Given the description of an element on the screen output the (x, y) to click on. 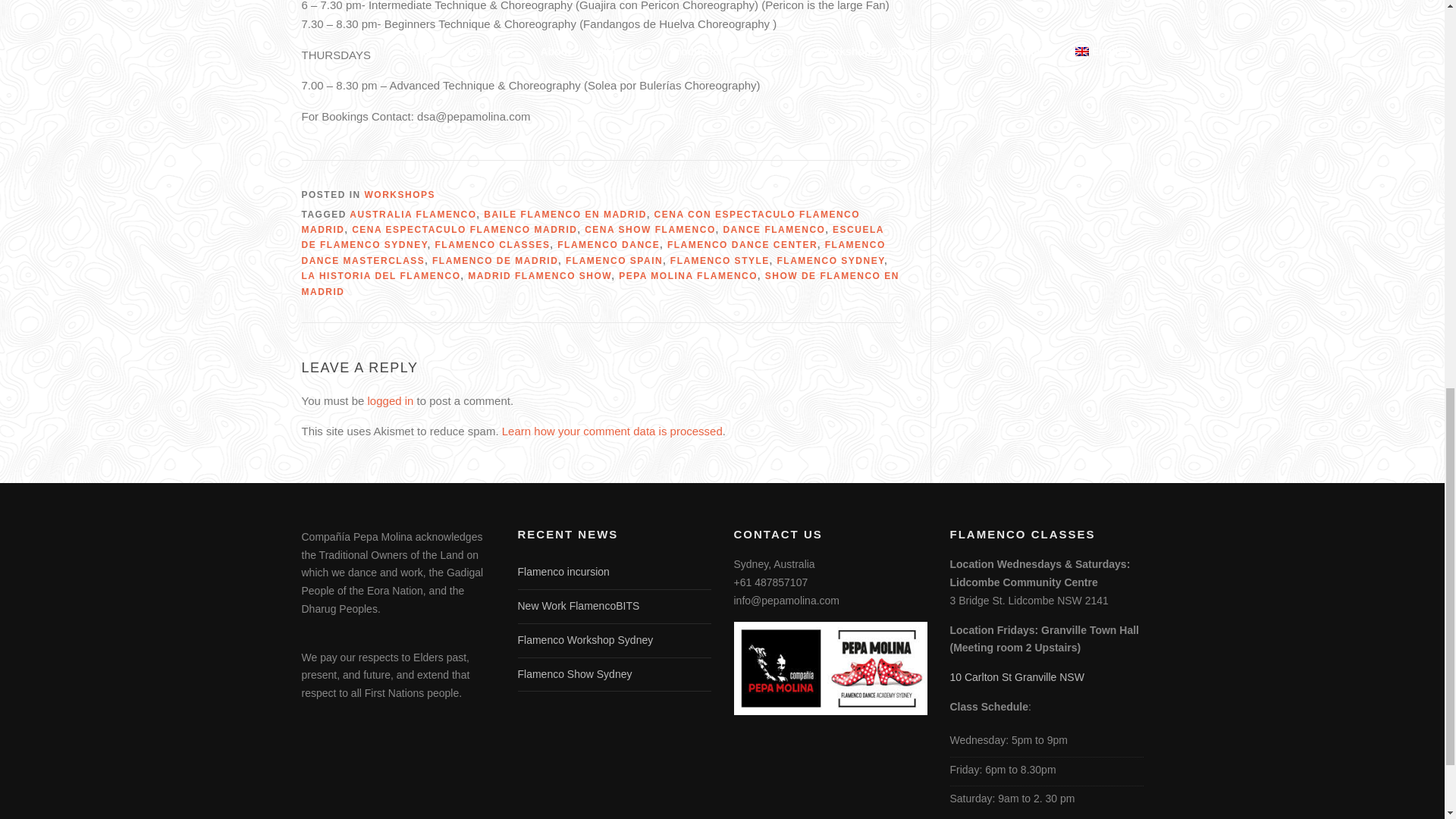
WORKSHOPS (400, 194)
CENA CON ESPECTACULO FLAMENCO MADRID (580, 222)
AUSTRALIA FLAMENCO (412, 214)
BAILE FLAMENCO EN MADRID (564, 214)
